Given the description of an element on the screen output the (x, y) to click on. 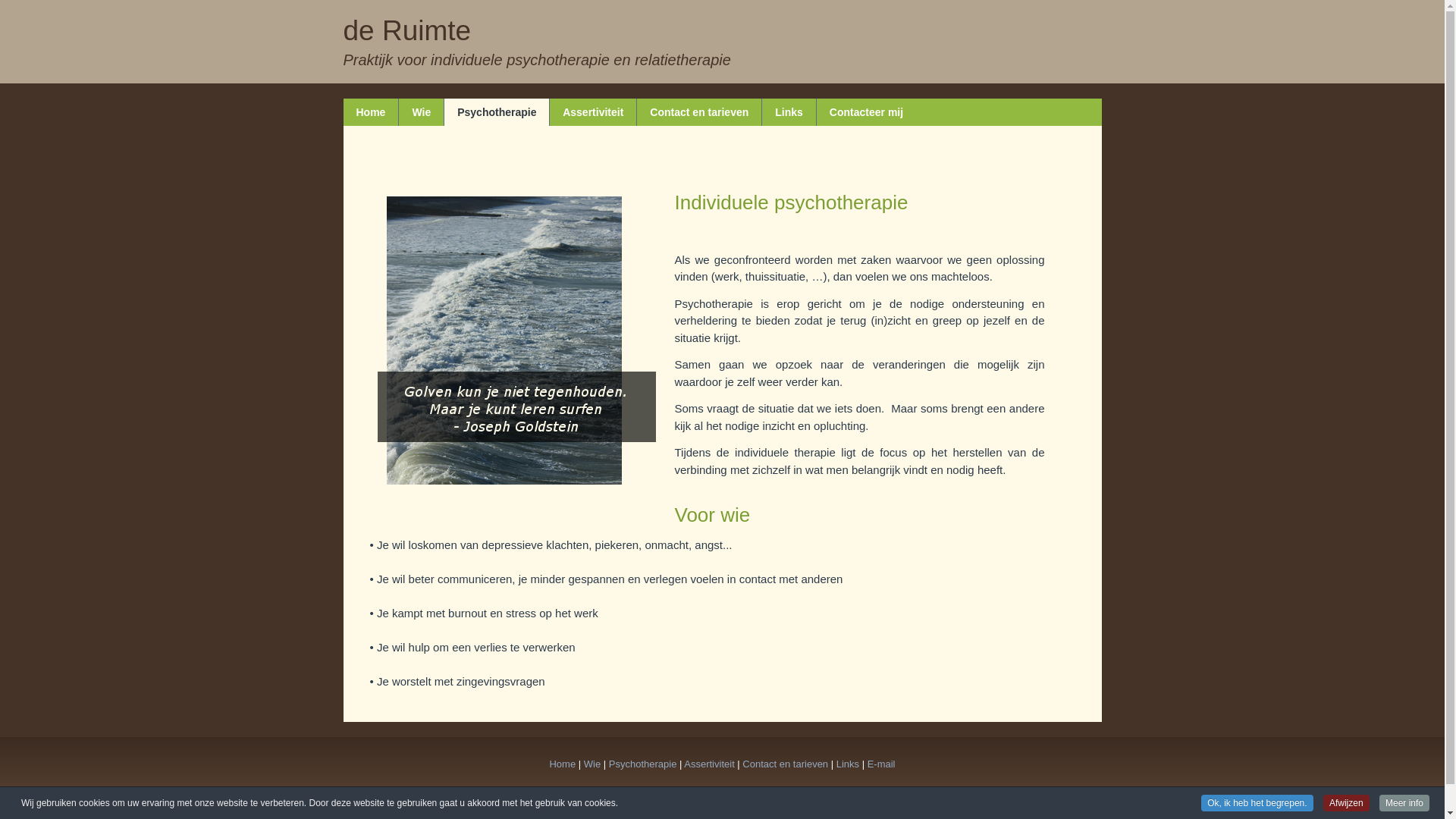
Meer info Element type: text (1404, 802)
Afwijzen Element type: text (1346, 802)
Ok, ik heb het begrepen. Element type: text (1256, 802)
Assertiviteit Element type: text (709, 763)
Home Element type: text (562, 763)
de Ruimte Element type: text (406, 30)
Wie Element type: text (420, 111)
Home Element type: text (370, 111)
Contact en tarieven Element type: text (785, 763)
Assertiviteit Element type: text (592, 111)
Wie Element type: text (591, 763)
Links Element type: text (788, 111)
Contacteer mij Element type: text (866, 111)
Psychotherapie Element type: text (496, 111)
Contact en tarieven Element type: text (699, 111)
Psychotherapie Element type: text (642, 763)
E-mail Element type: text (881, 763)
Links Element type: text (847, 763)
